Given the description of an element on the screen output the (x, y) to click on. 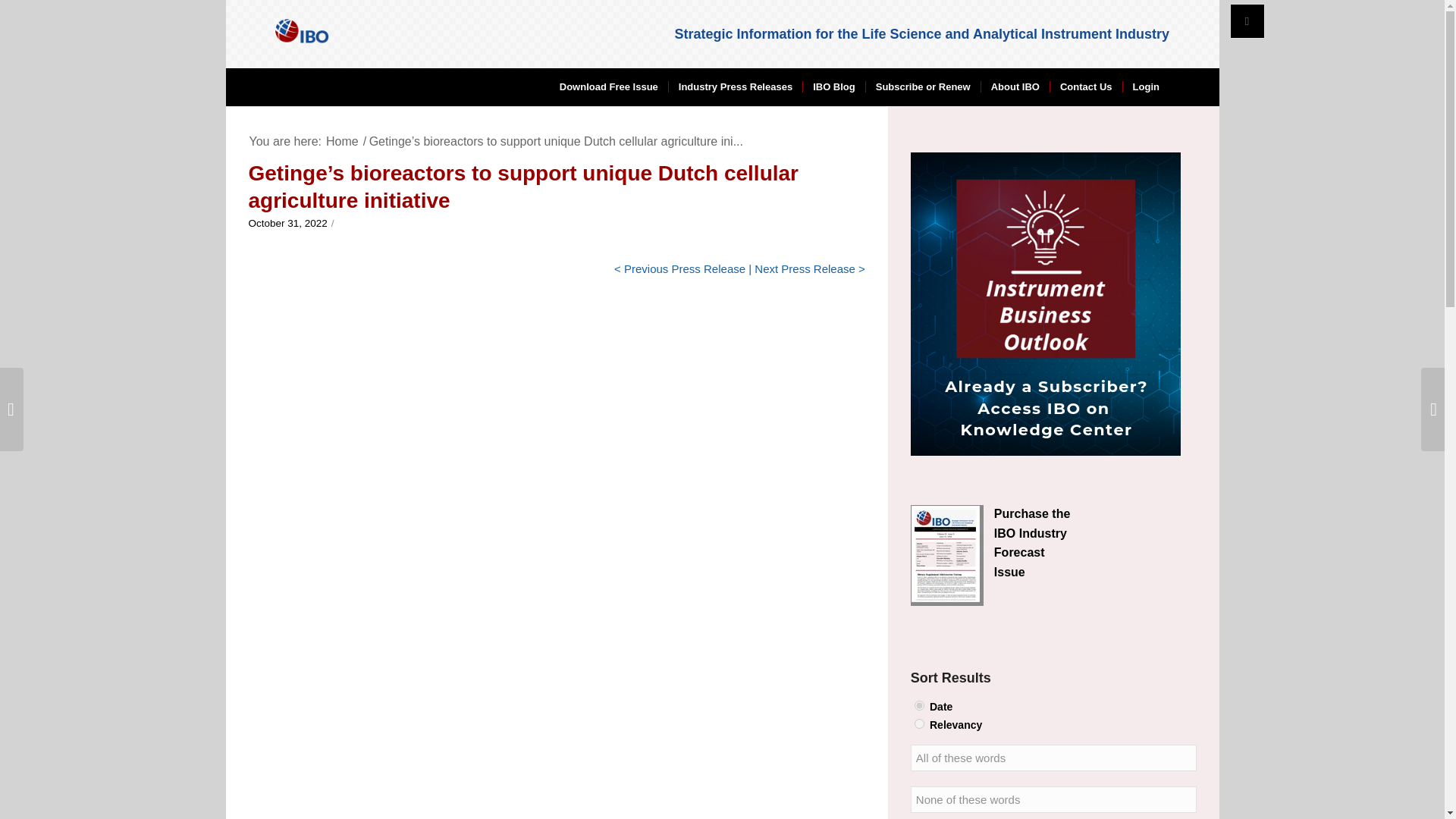
Download Free Issue (609, 86)
Subscribe or Renew (921, 86)
Previous Press Release (684, 268)
IBO Blog (833, 86)
IBO (342, 141)
relevancy (919, 723)
Home (342, 141)
Next Press Release (805, 268)
date (919, 705)
relevancy (919, 723)
Industry Press Releases (735, 86)
date (919, 705)
